Given the description of an element on the screen output the (x, y) to click on. 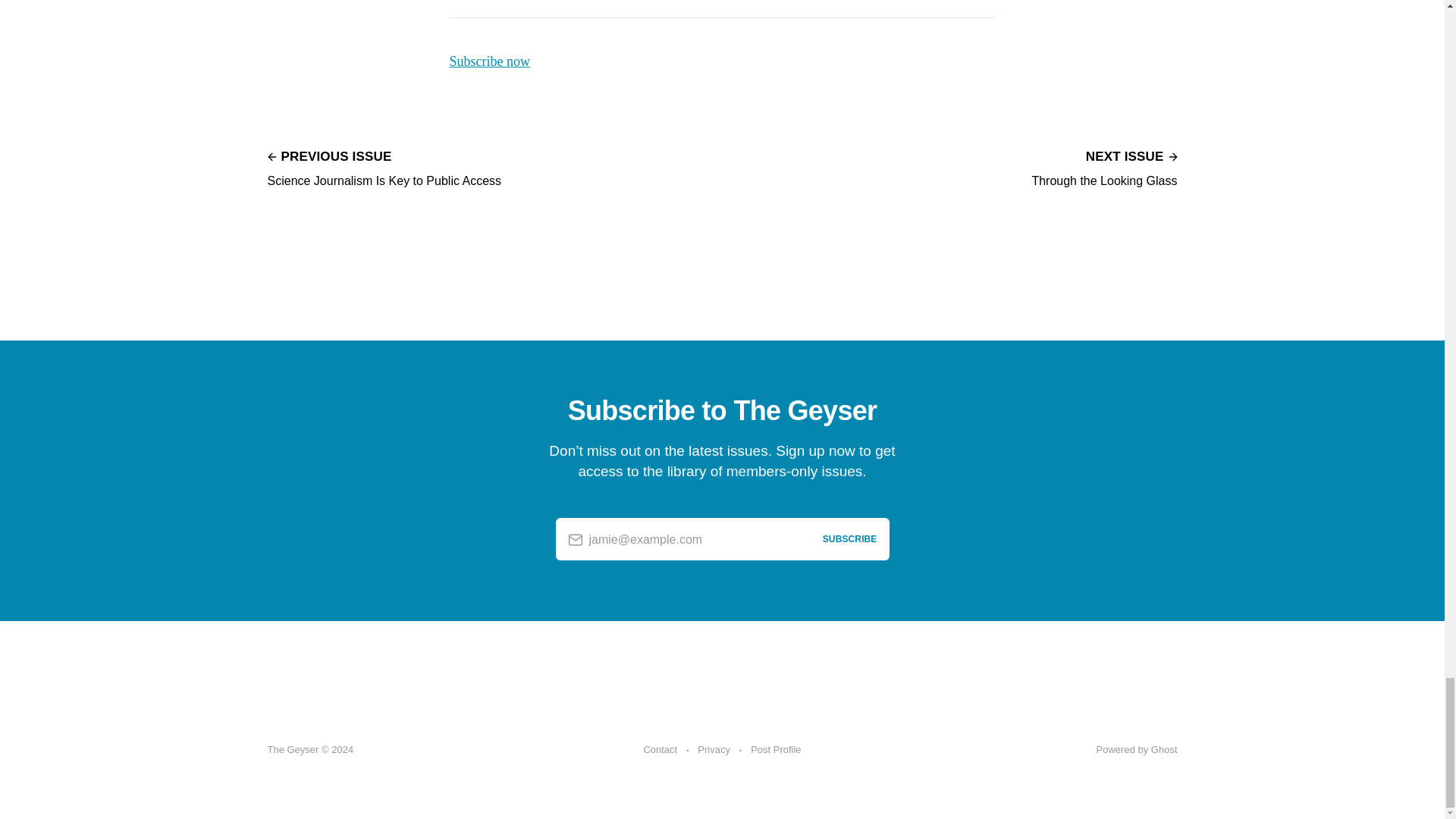
Subscribe now (383, 167)
Contact (488, 61)
Post Profile (660, 750)
Powered by Ghost (775, 750)
Privacy (1103, 167)
